Given the description of an element on the screen output the (x, y) to click on. 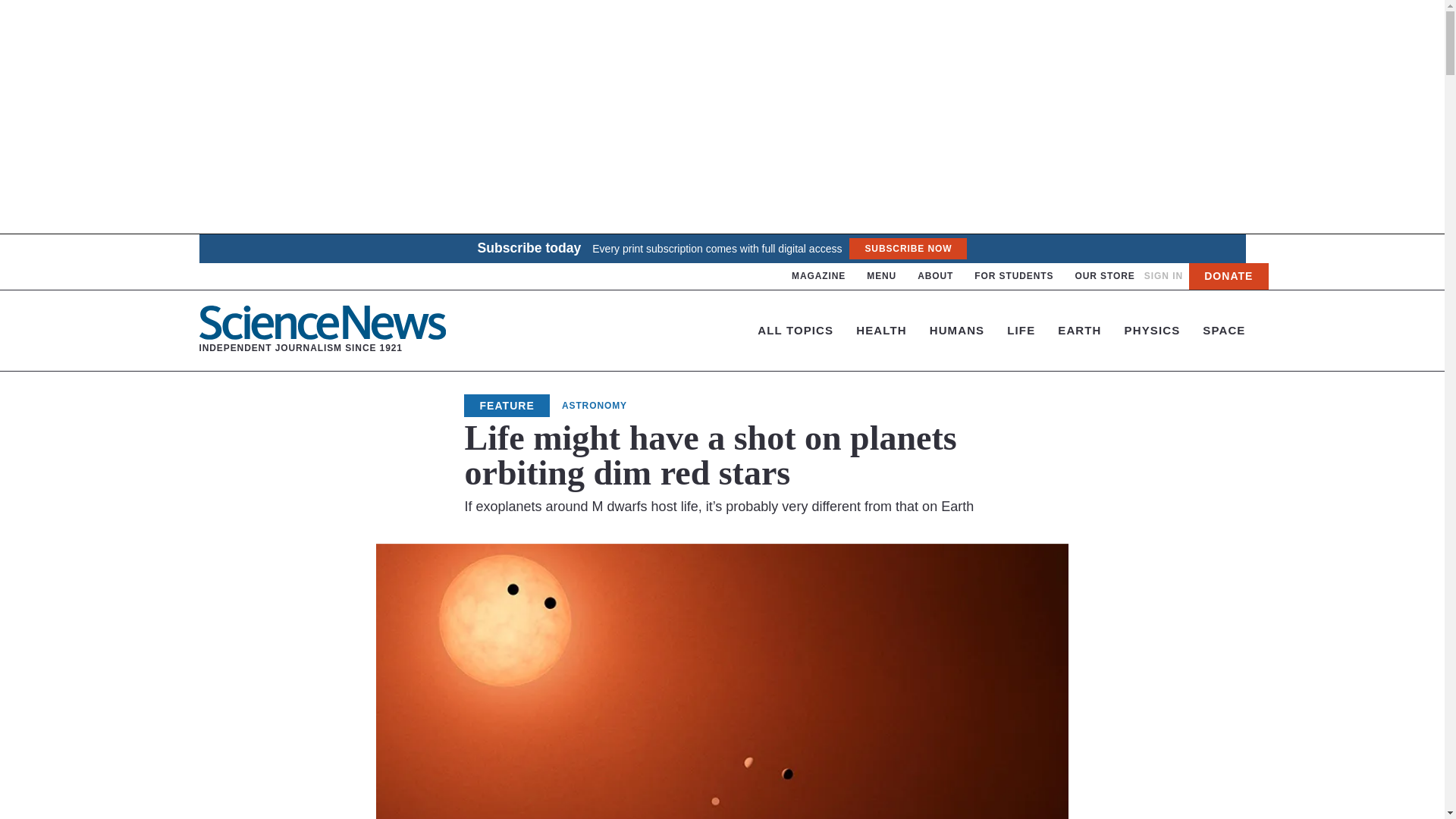
ALL TOPICS (794, 329)
SUBSCRIBE NOW (321, 330)
SIGN IN (907, 248)
MENU (1163, 275)
OUR STORE (881, 275)
ABOUT (1104, 275)
DONATE (935, 275)
MAGAZINE (1228, 275)
FOR STUDENTS (818, 275)
